Given the description of an element on the screen output the (x, y) to click on. 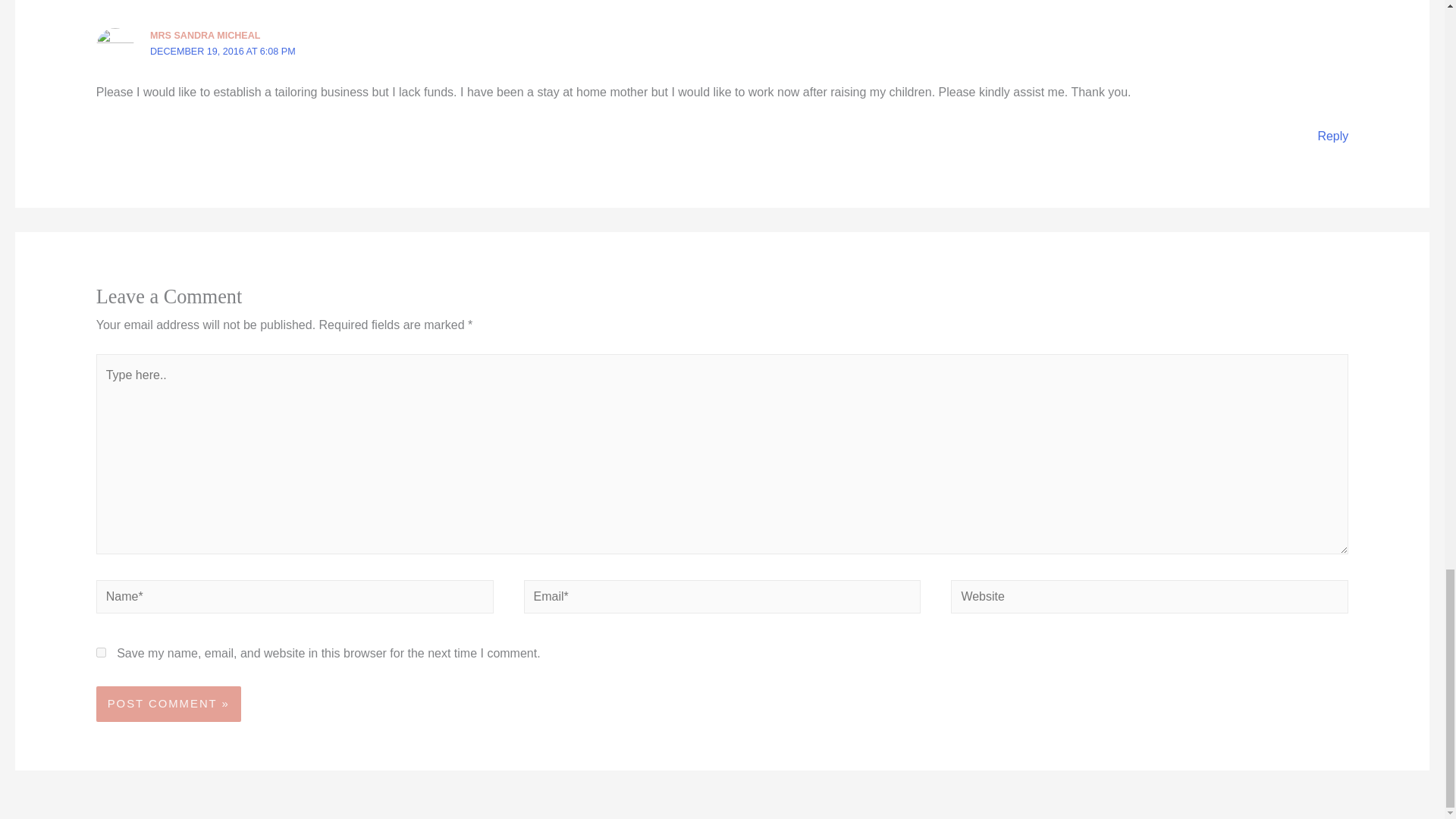
yes (101, 652)
